Given the description of an element on the screen output the (x, y) to click on. 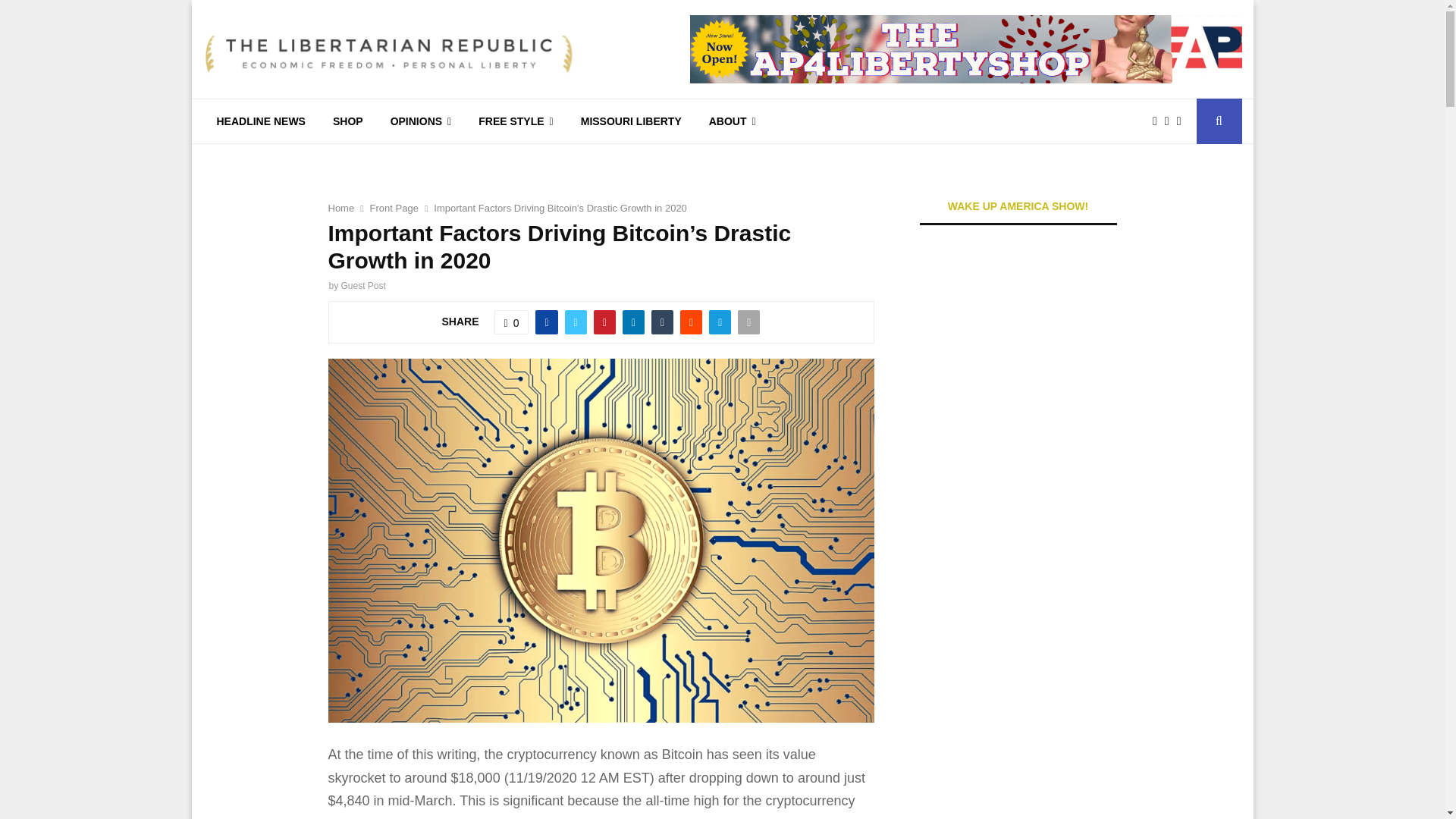
ABOUT (732, 121)
OPINIONS (421, 121)
Front Page (394, 207)
MISSOURI LIBERTY (631, 121)
Guest Post (362, 285)
SHOP (347, 121)
Like (512, 322)
FREE STYLE (515, 121)
Home (340, 207)
HEADLINE NEWS (260, 121)
0 (512, 322)
